Given the description of an element on the screen output the (x, y) to click on. 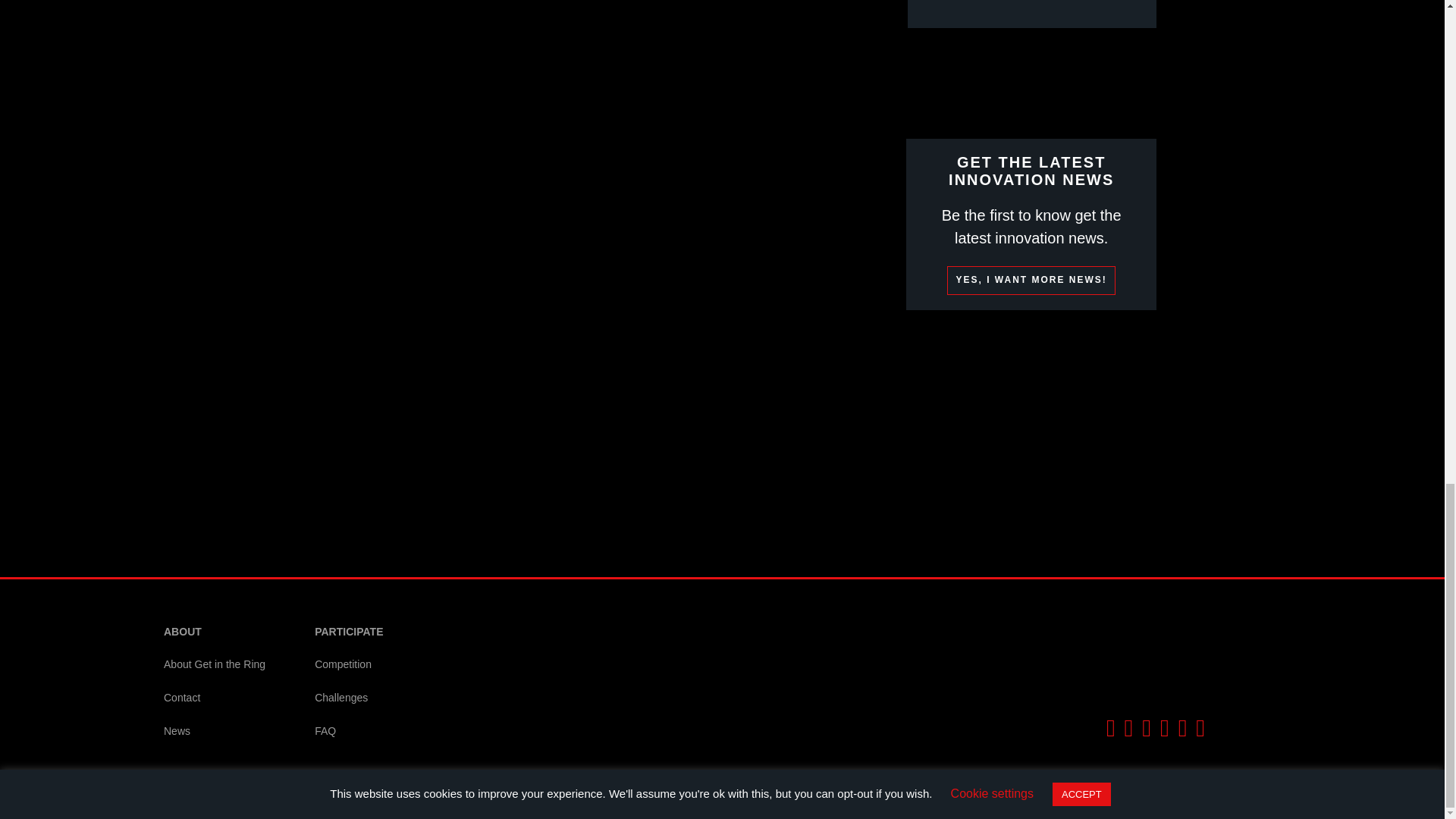
instagram (1182, 727)
Competition (348, 664)
About Get in the Ring (213, 664)
PARTICIPATE (348, 632)
FAQ (348, 731)
Challenges (348, 697)
ABOUT (213, 632)
flickr (1200, 727)
News (213, 731)
YES, I WANT MORE NEWS! (1031, 280)
youtube (1164, 727)
Contact (213, 697)
